Given the description of an element on the screen output the (x, y) to click on. 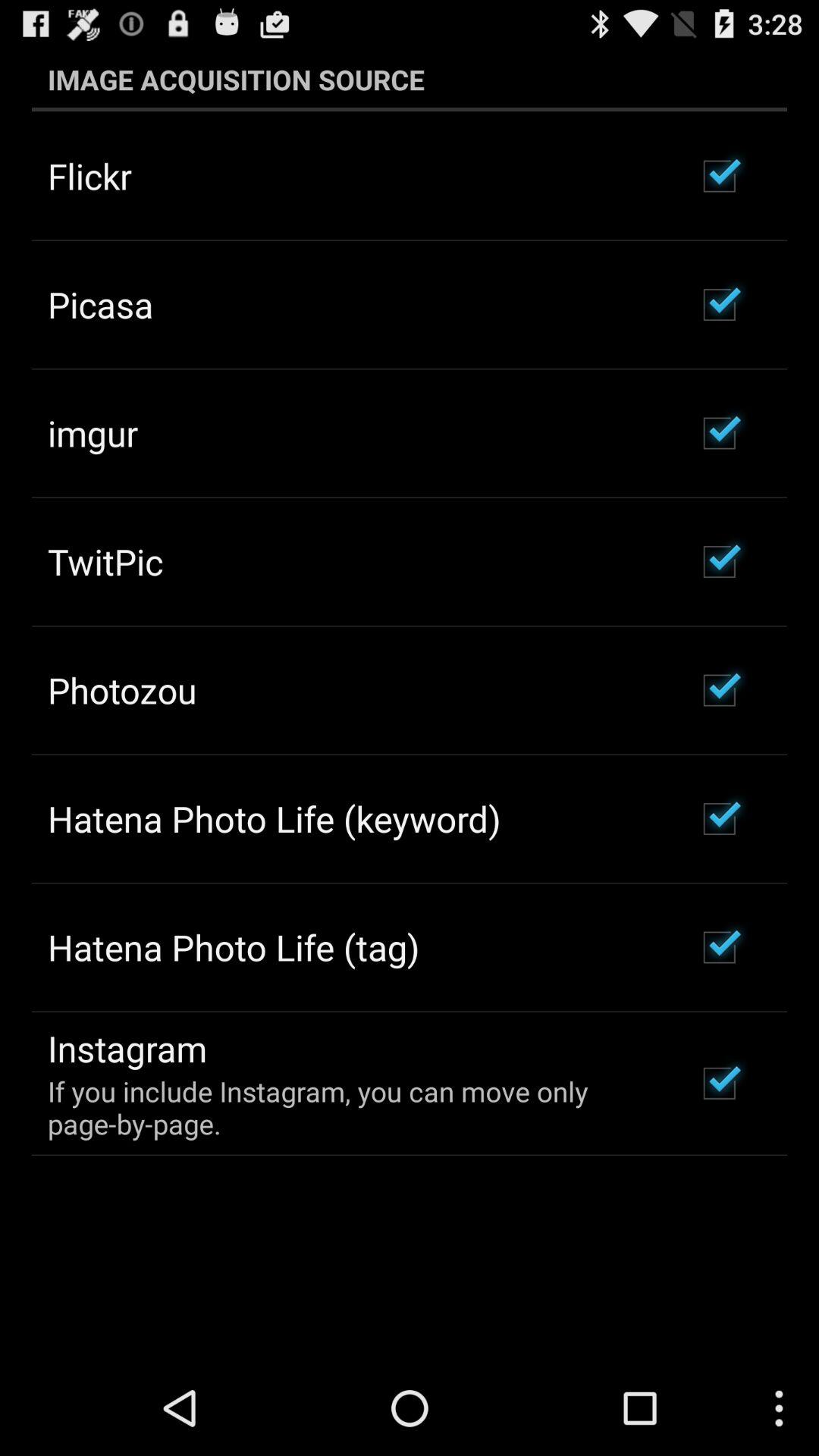
turn off image acquisition source (409, 79)
